Given the description of an element on the screen output the (x, y) to click on. 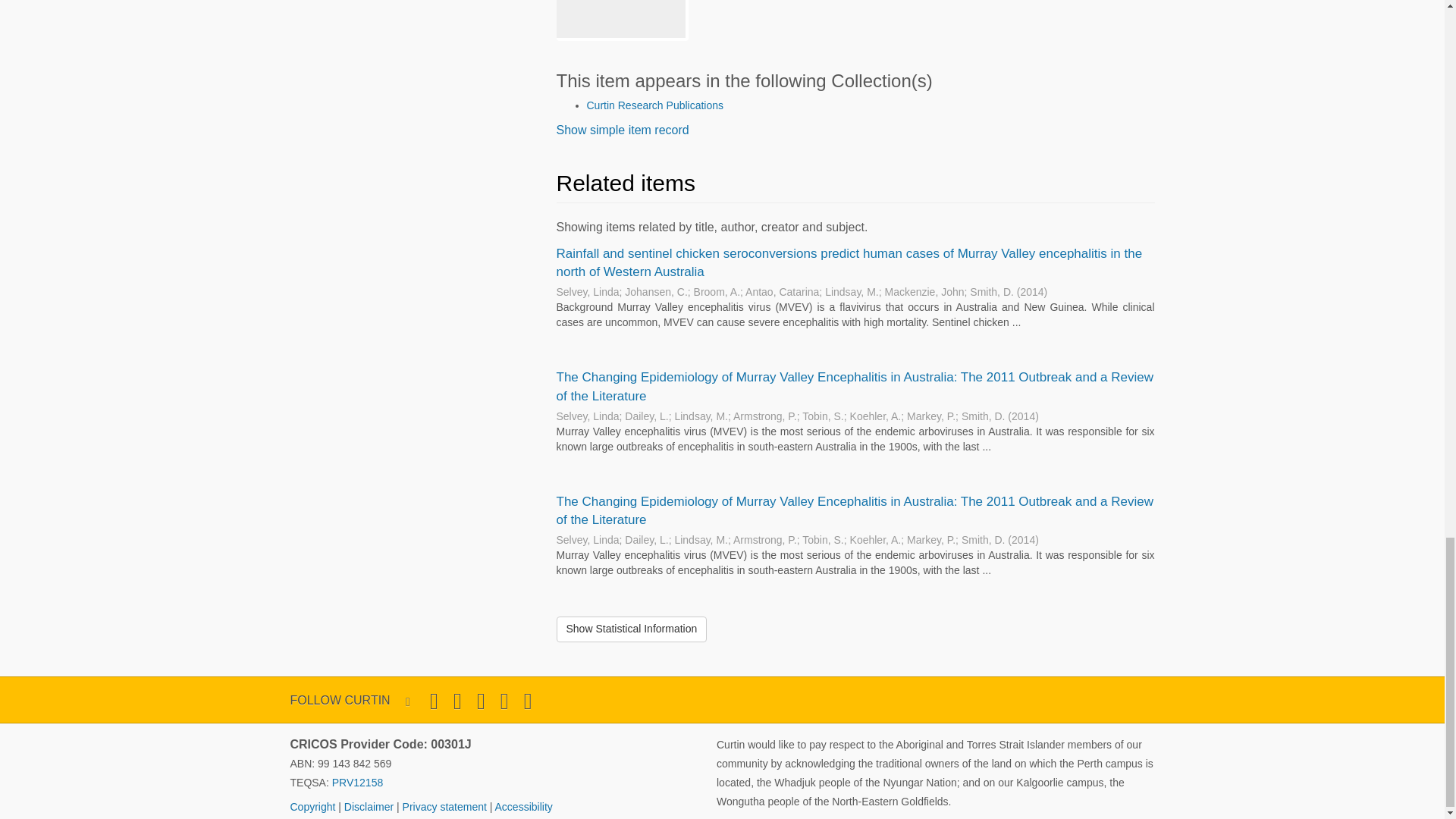
Curtin Research Publications (654, 105)
Show Statistical Information (631, 629)
Show simple item record (622, 129)
